Given the description of an element on the screen output the (x, y) to click on. 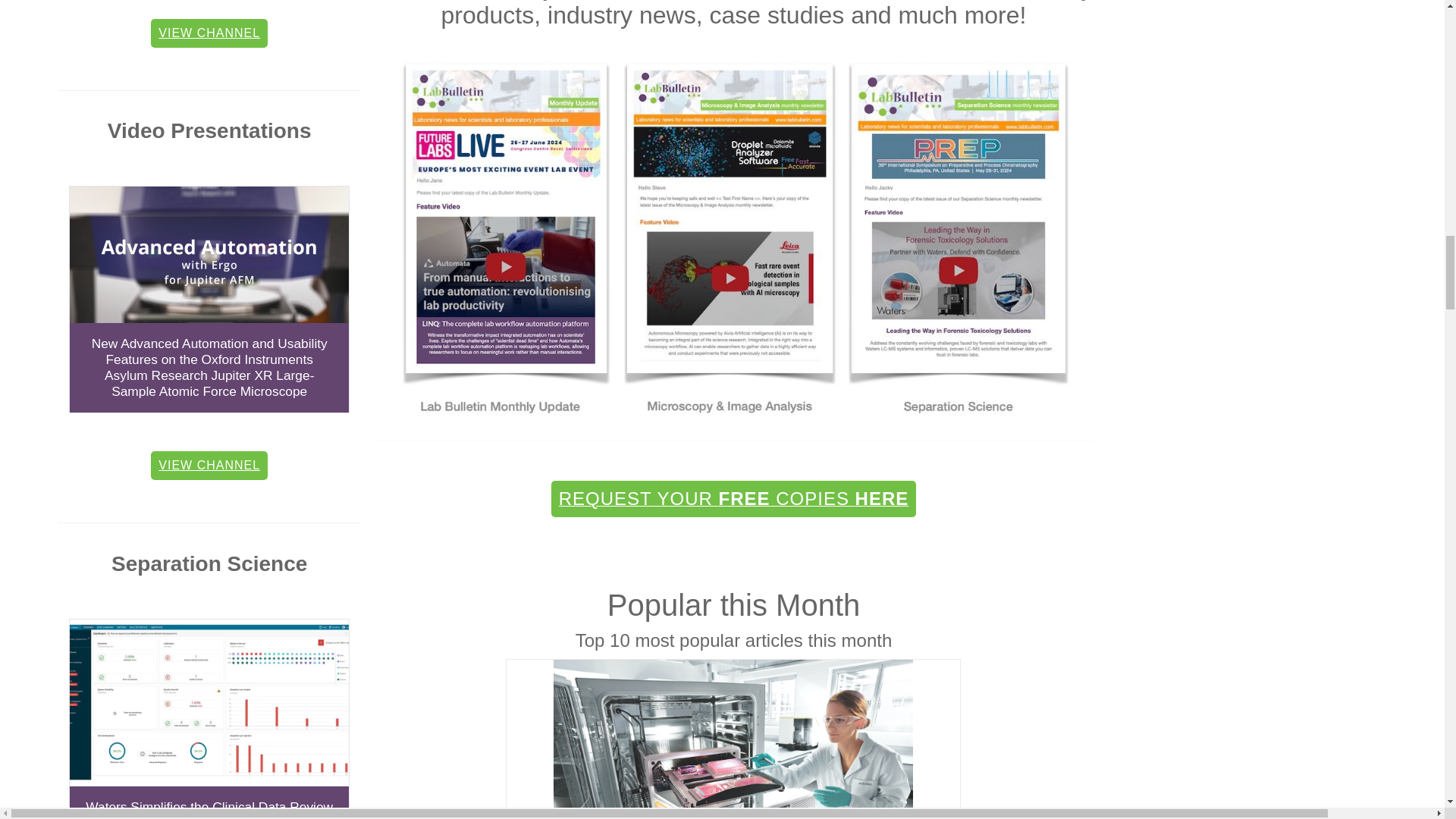
Newsletter subscriptions (733, 444)
REQUEST YOUR FREE COPIES HERE (734, 498)
